Given the description of an element on the screen output the (x, y) to click on. 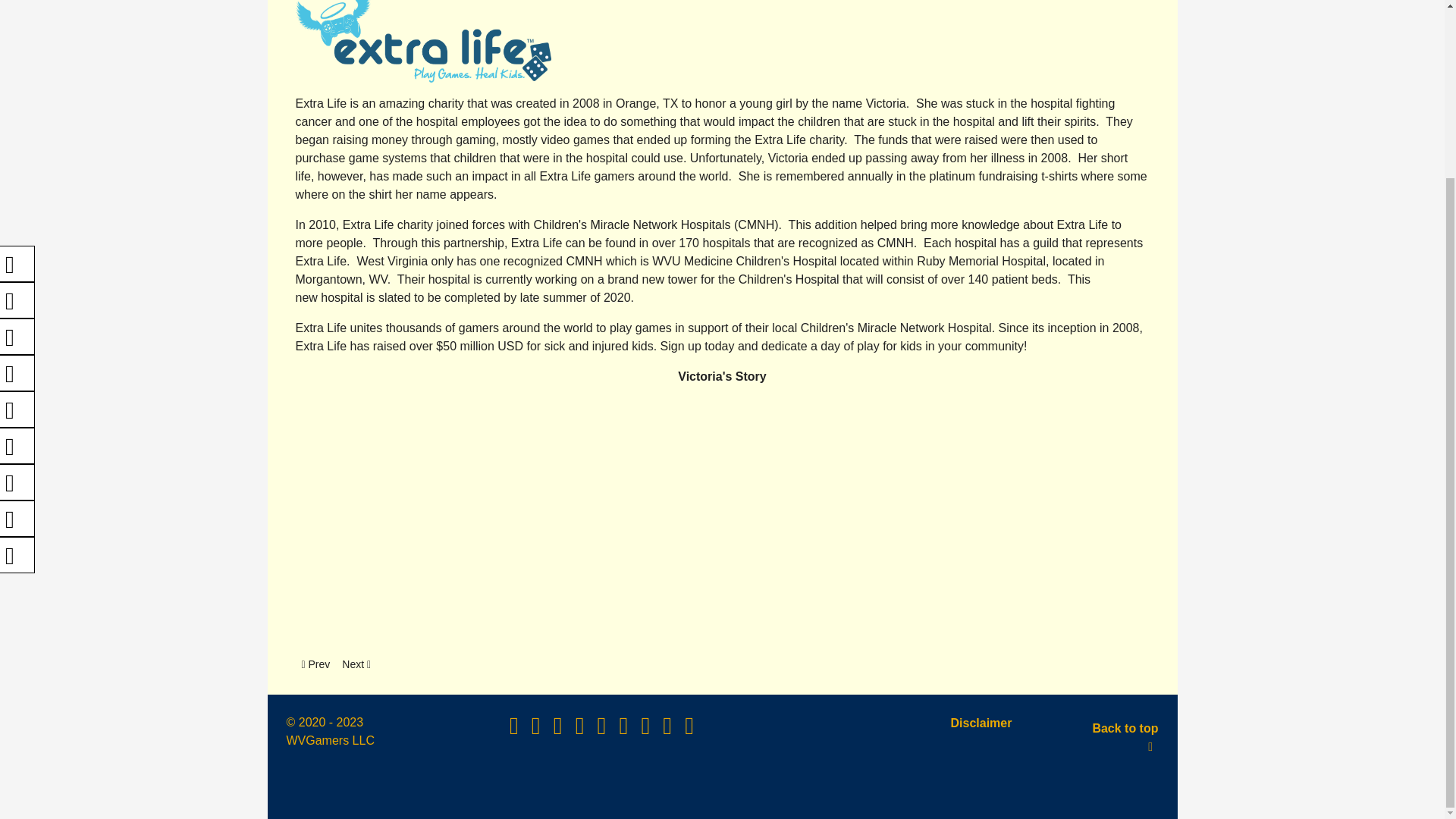
Instagram (581, 729)
Instagram (17, 155)
Twitter (17, 82)
Twitch (625, 729)
Facebook (17, 45)
Youtube (17, 118)
LinkedIn (315, 664)
TikTok (17, 300)
BGG (356, 664)
TikTok (647, 729)
RSS Feed (17, 191)
Facebook (17, 264)
Twitter (17, 337)
